Given the description of an element on the screen output the (x, y) to click on. 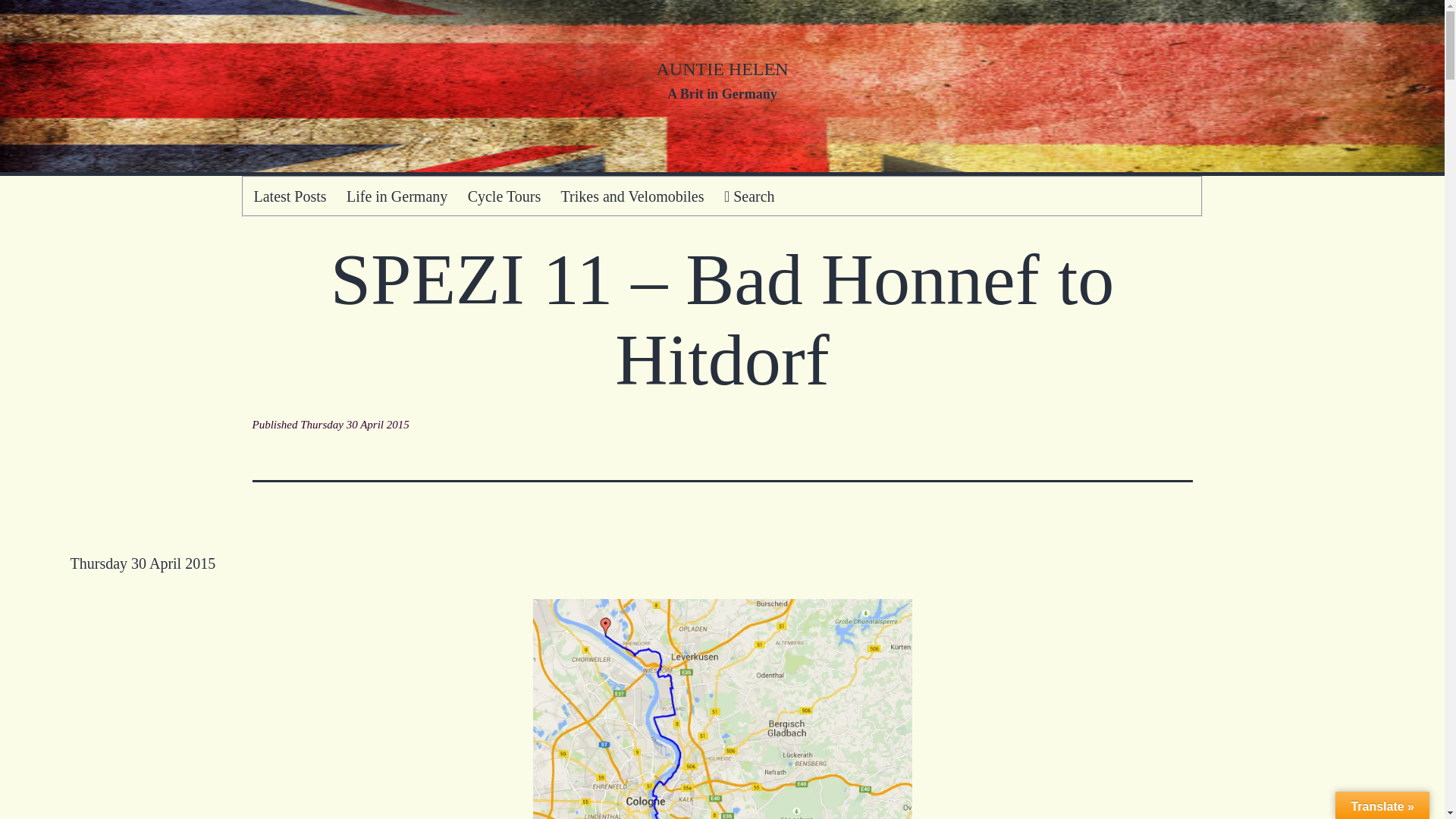
AUNTIE HELEN (722, 68)
Trikes and Velomobiles (631, 196)
Life in Germany (397, 196)
Latest Posts (289, 196)
Cycle Tours (503, 196)
